Given the description of an element on the screen output the (x, y) to click on. 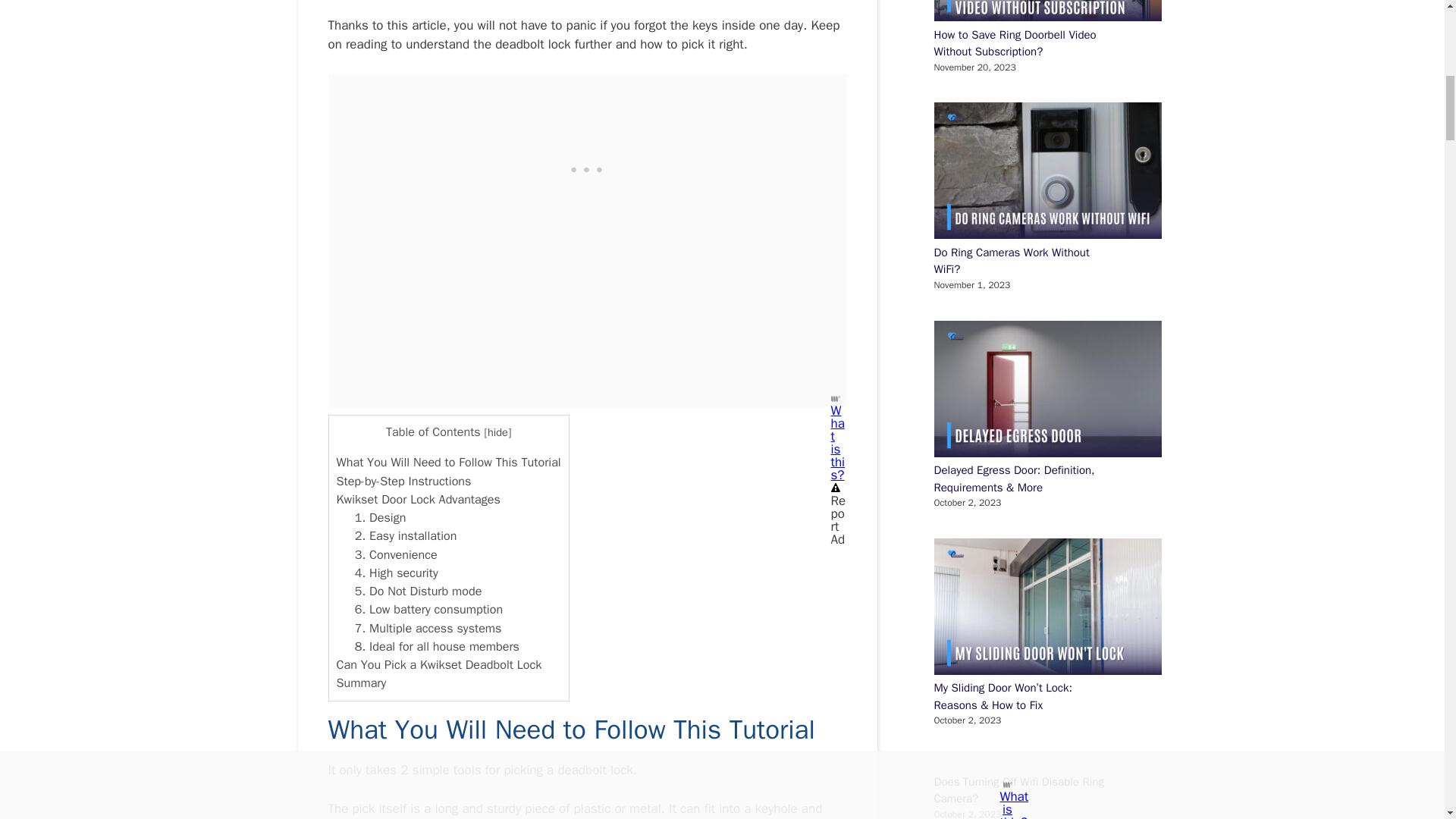
3rd party ad content (586, 167)
